Given the description of an element on the screen output the (x, y) to click on. 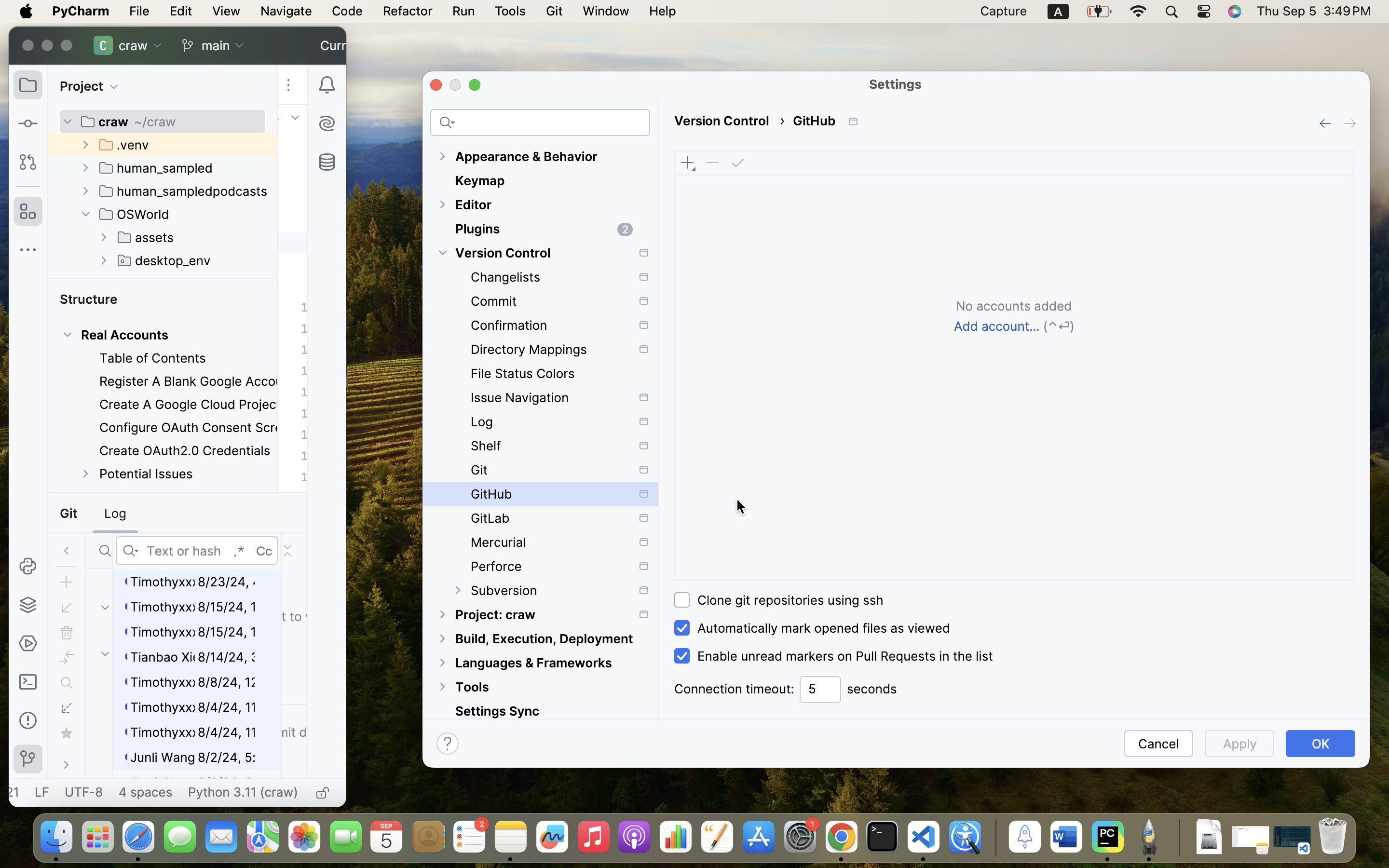
5 Element type: AXTextField (820, 689)
Settings Element type: AXStaticText (895, 83)
